Given the description of an element on the screen output the (x, y) to click on. 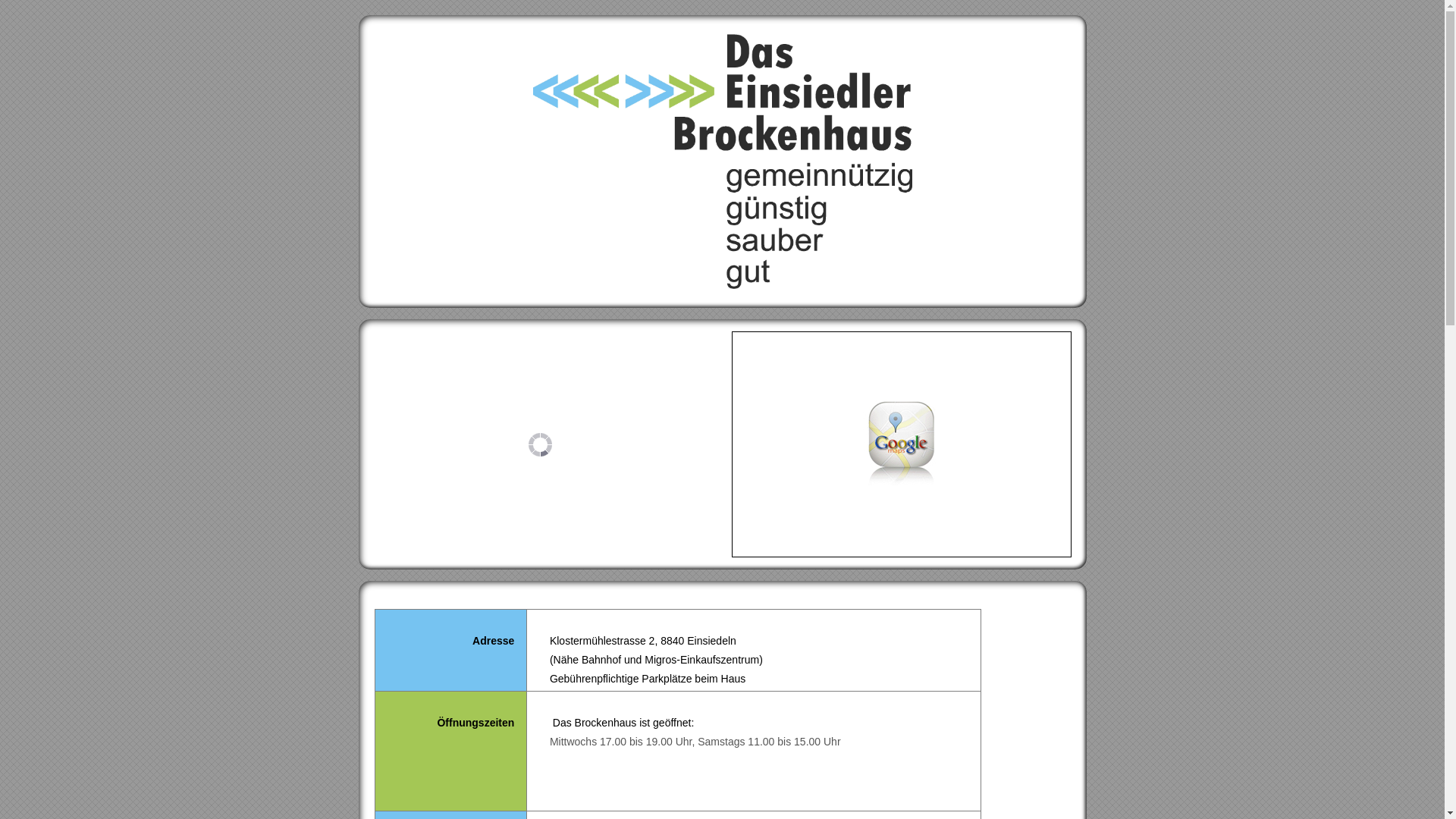
brockenhaus einsiedeln Element type: hover (721, 161)
